Given the description of an element on the screen output the (x, y) to click on. 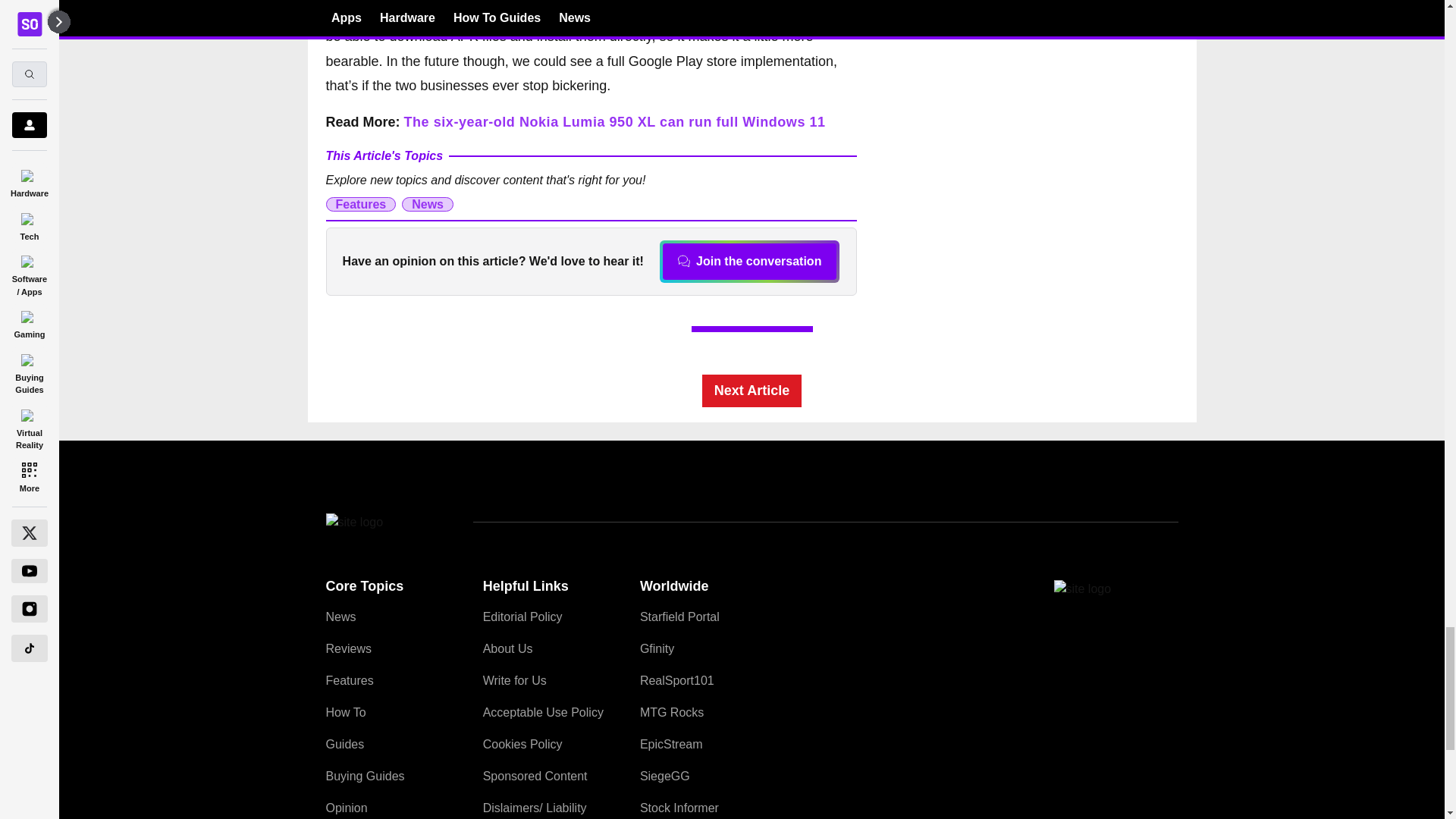
Latest News (1063, 150)
